Given the description of an element on the screen output the (x, y) to click on. 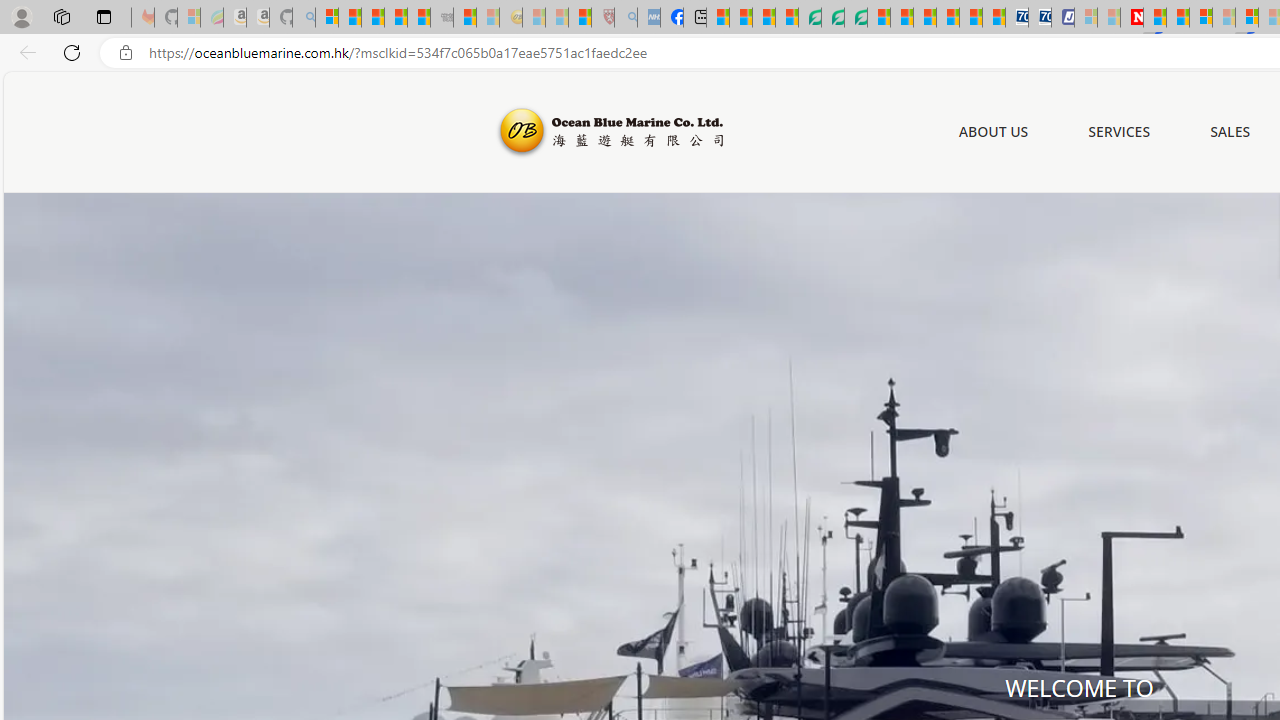
SERVICES (1119, 132)
14 Common Myths Debunked By Scientific Facts (1178, 17)
Cheap Car Rentals - Save70.com (1016, 17)
MSNBC - MSN (717, 17)
ABOUT US (993, 131)
Latest Politics News & Archive | Newsweek.com (1132, 17)
